Given the description of an element on the screen output the (x, y) to click on. 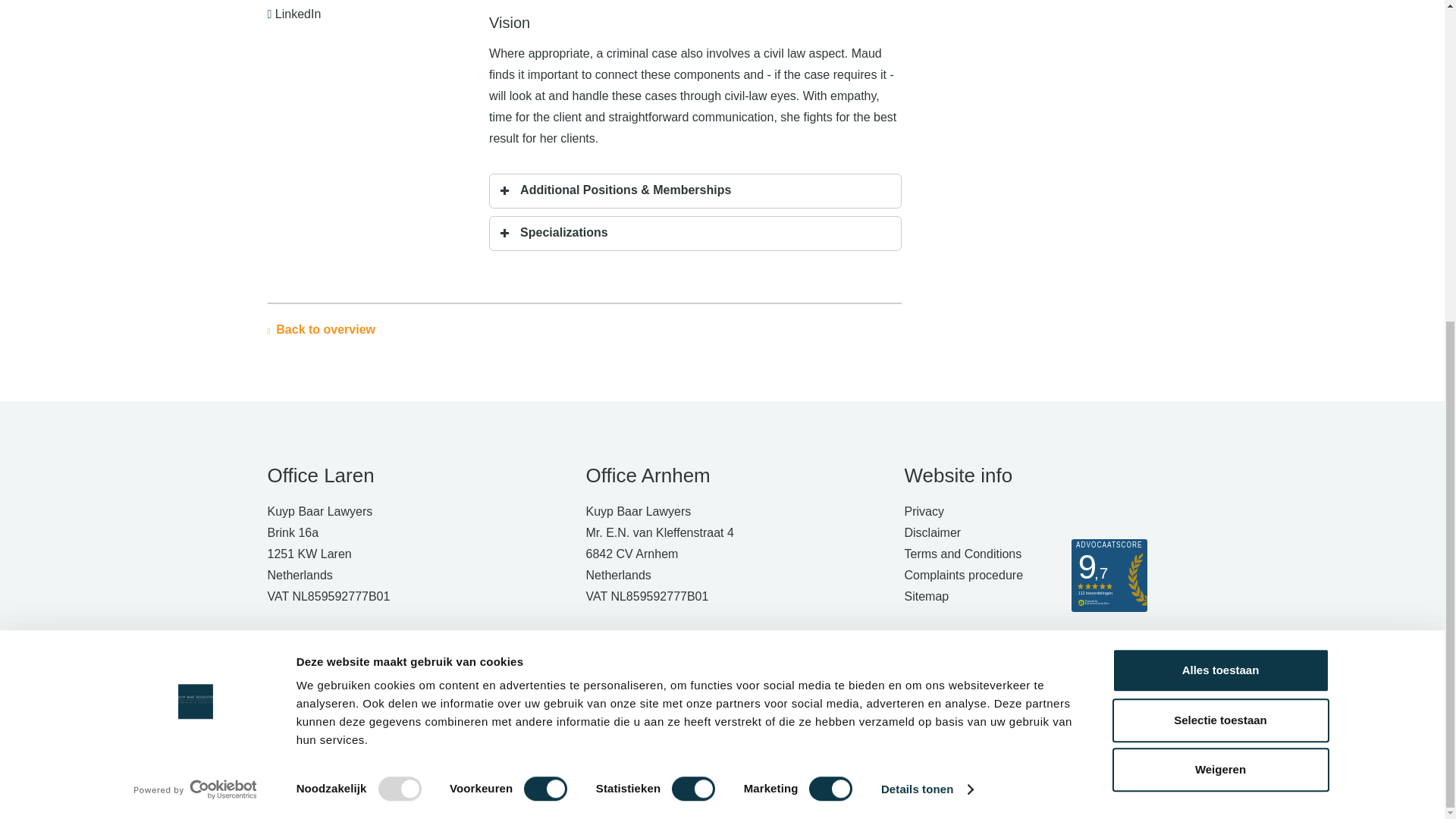
Alles toestaan (1219, 147)
Weigeren (1219, 247)
Selectie toestaan (1219, 198)
Details tonen (926, 266)
